Given the description of an element on the screen output the (x, y) to click on. 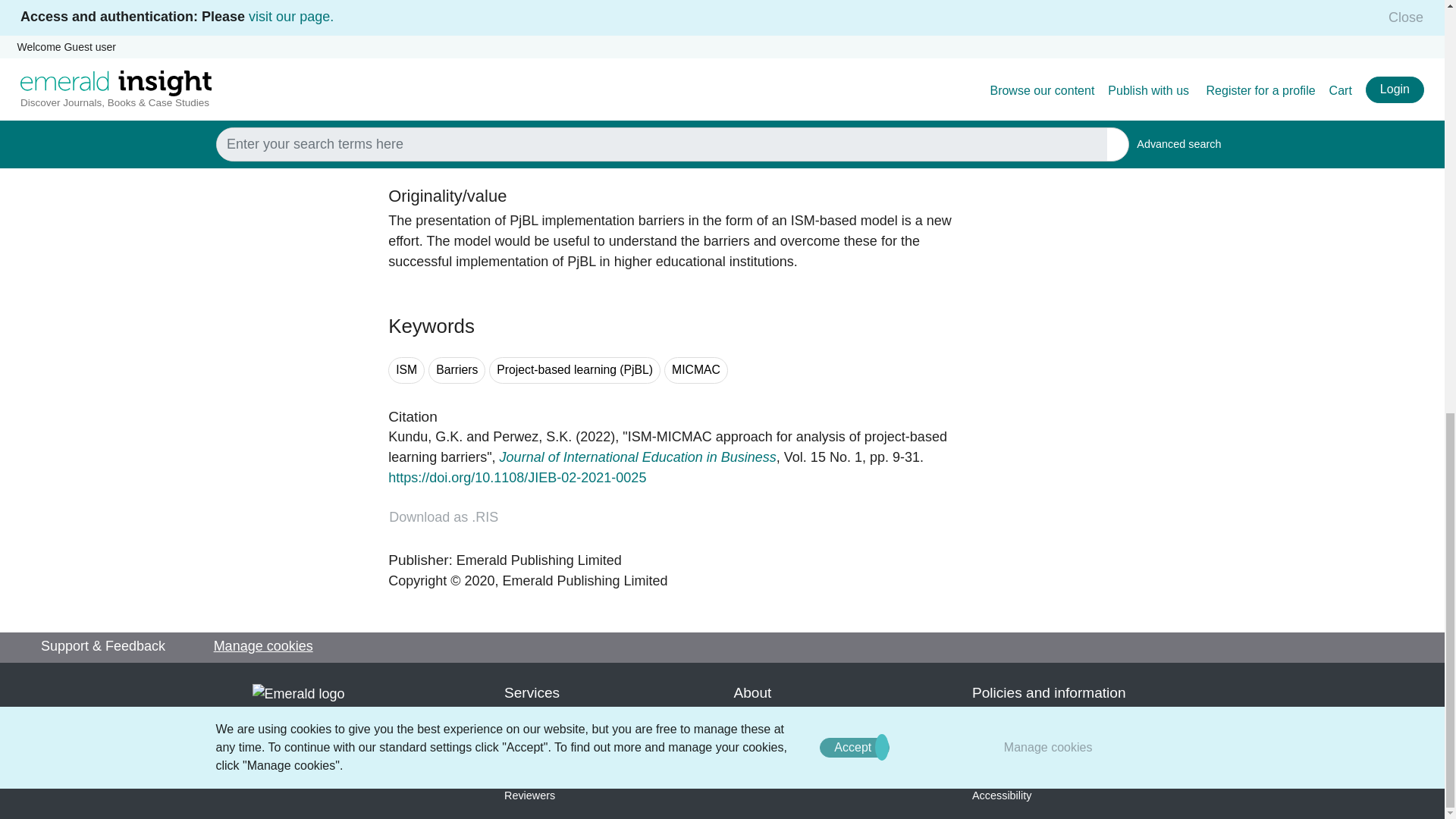
Goutam Kumar Kundu (425, 436)
Search for keyword Barriers (456, 370)
Search for keyword MICMAC (695, 370)
Syed Khalid Perwez (532, 436)
Search for keyword ISM (406, 370)
